Given the description of an element on the screen output the (x, y) to click on. 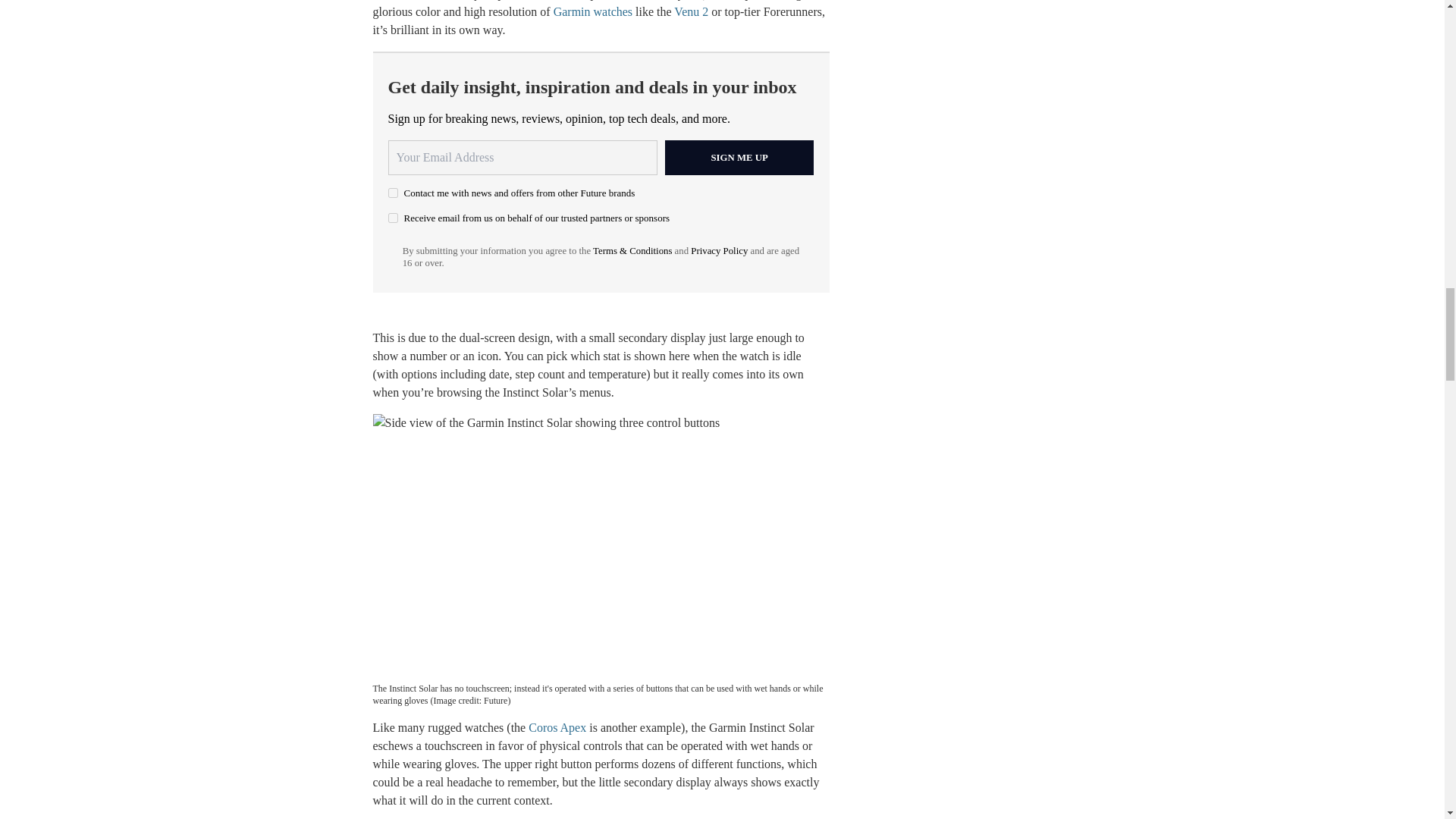
on (392, 193)
on (392, 217)
Sign me up (739, 157)
